Given the description of an element on the screen output the (x, y) to click on. 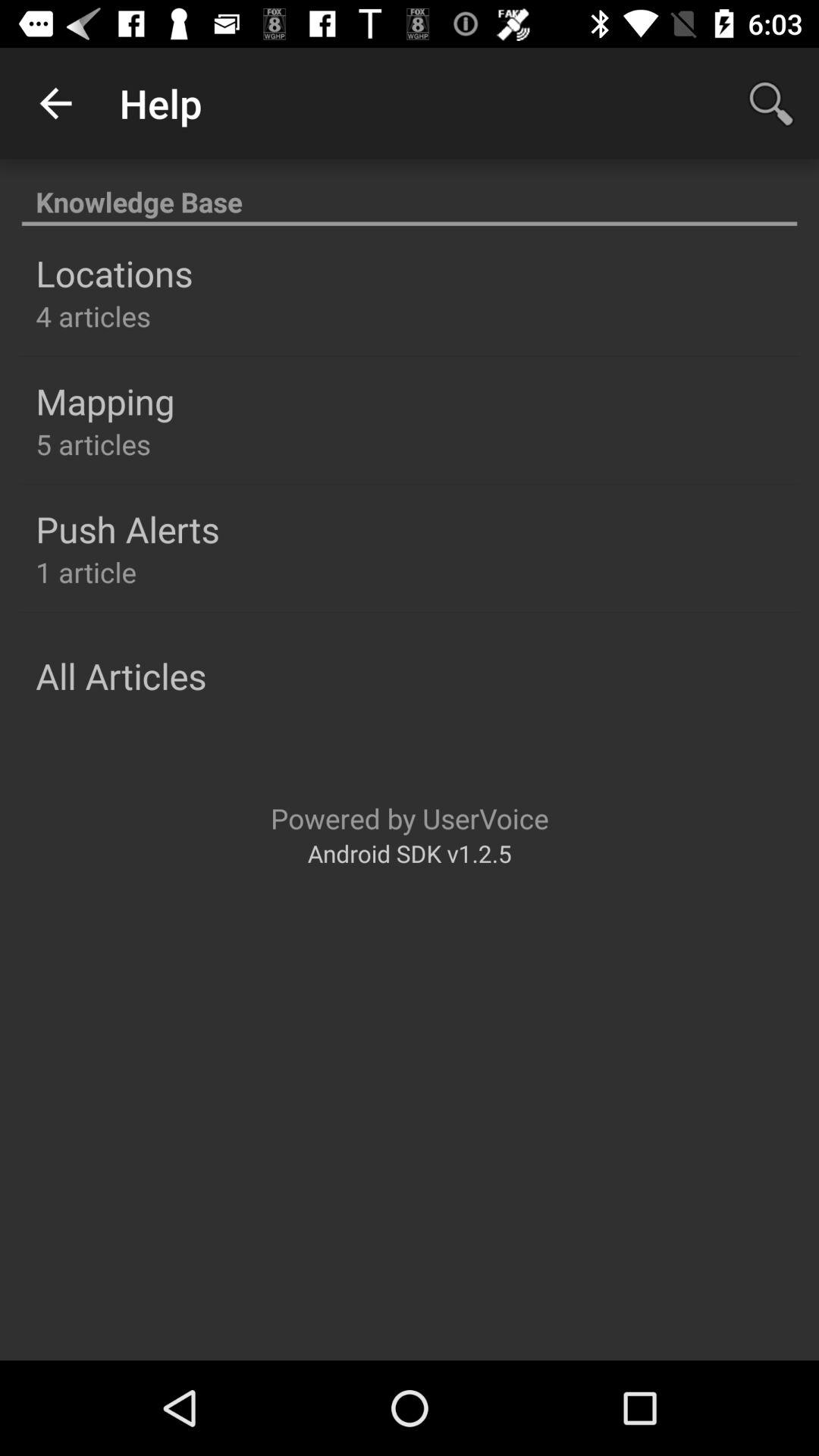
choose the push alerts icon (127, 529)
